Given the description of an element on the screen output the (x, y) to click on. 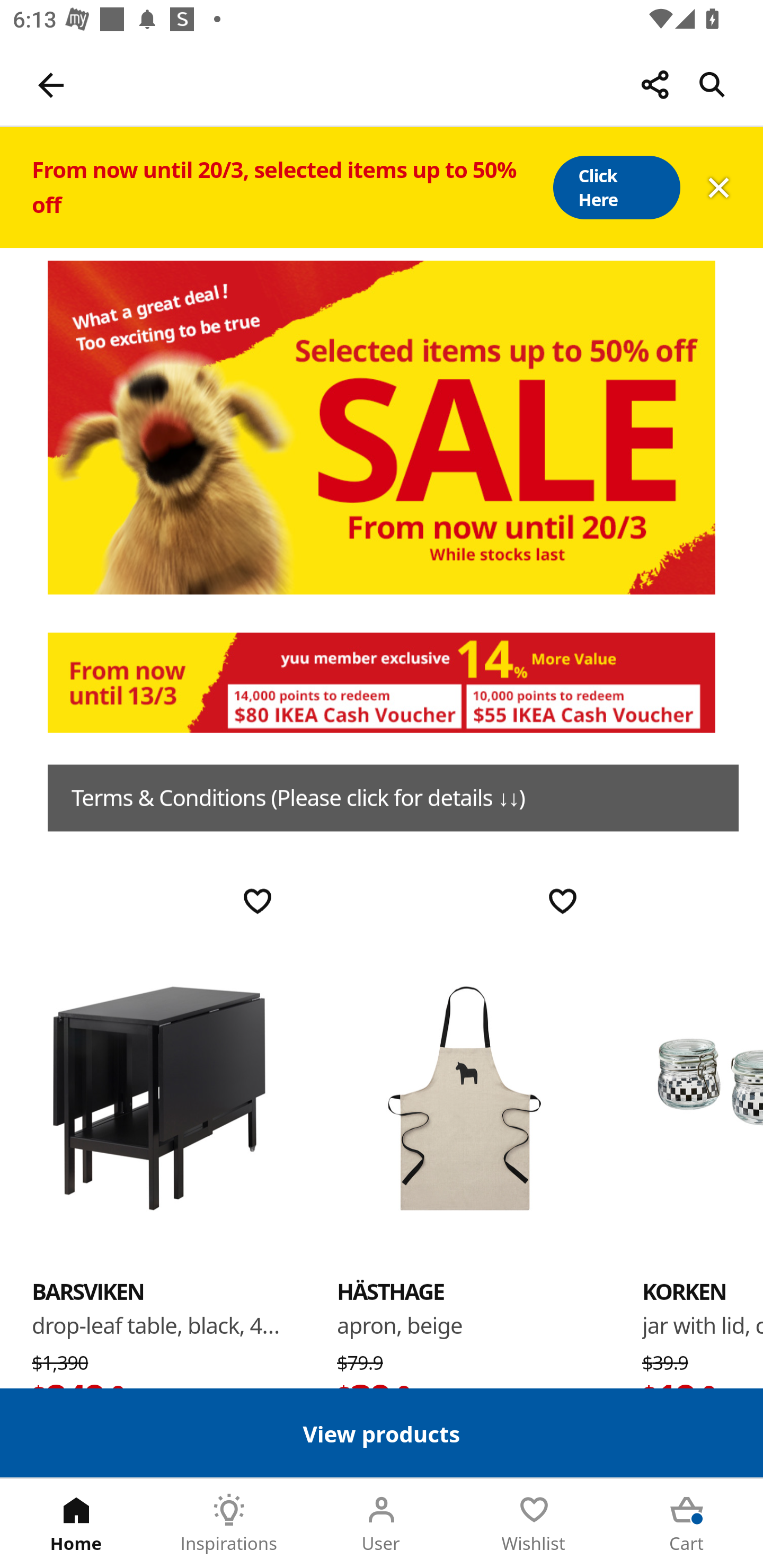
Click Here (615, 187)
Terms & Conditions (Please click for details ↓↓) (393, 798)
BARSVIKEN (159, 1096)
HÄSTHAGE (464, 1096)
KORKEN (702, 1096)
BARSVIKEN (88, 1290)
HÄSTHAGE (390, 1290)
KORKEN (684, 1290)
View products (381, 1432)
Home
Tab 1 of 5 (76, 1522)
Inspirations
Tab 2 of 5 (228, 1522)
User
Tab 3 of 5 (381, 1522)
Wishlist
Tab 4 of 5 (533, 1522)
Cart
Tab 5 of 5 (686, 1522)
